Given the description of an element on the screen output the (x, y) to click on. 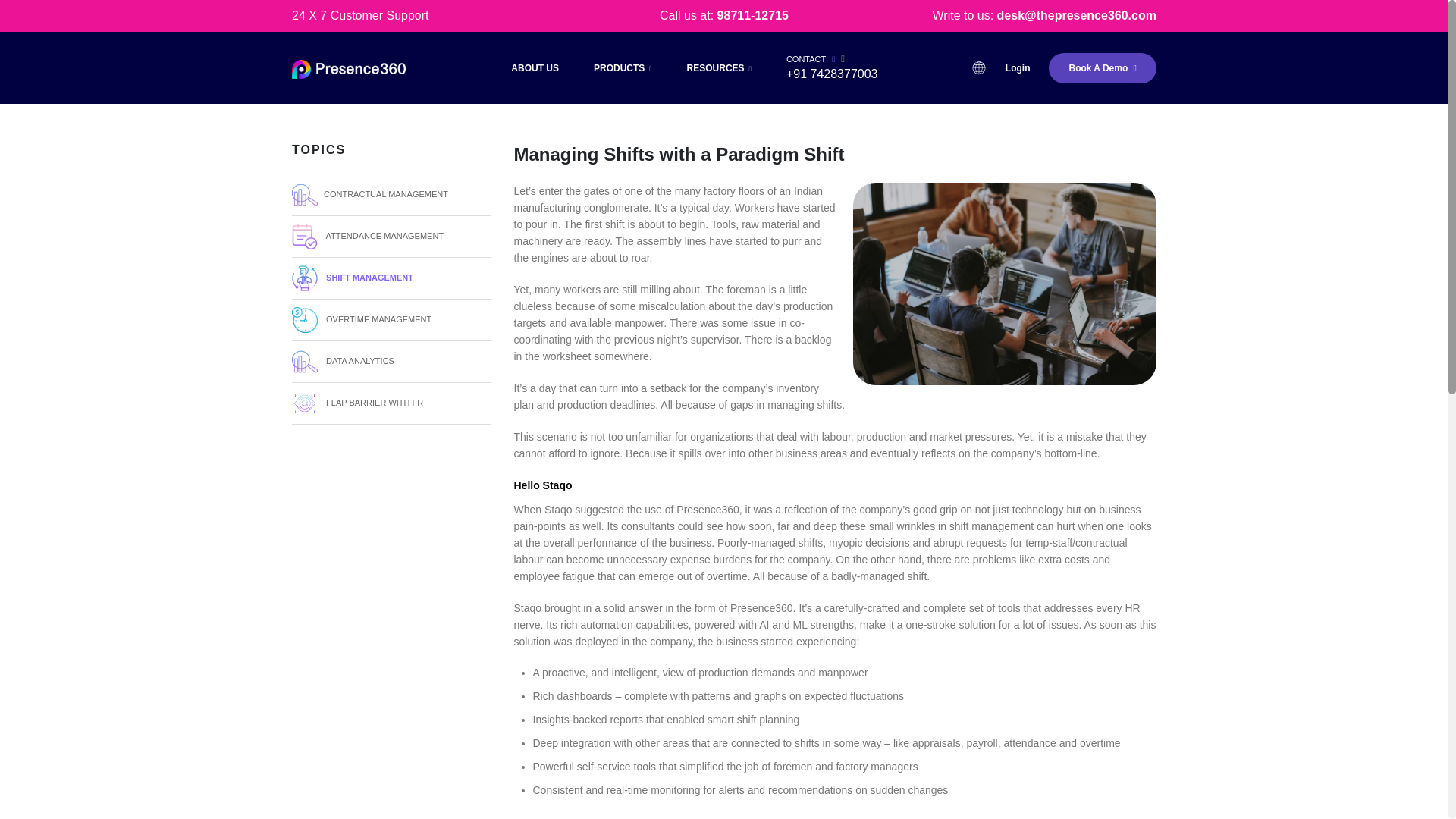
Book A Demo (1102, 68)
RESOURCES (719, 68)
ABOUT US (534, 68)
CONTRACTUAL MANAGEMENT (392, 195)
ATTENDANCE MANAGEMENT (392, 236)
Login (1018, 68)
PRODUCTS (623, 68)
SHIFT MANAGEMENT (392, 278)
